Given the description of an element on the screen output the (x, y) to click on. 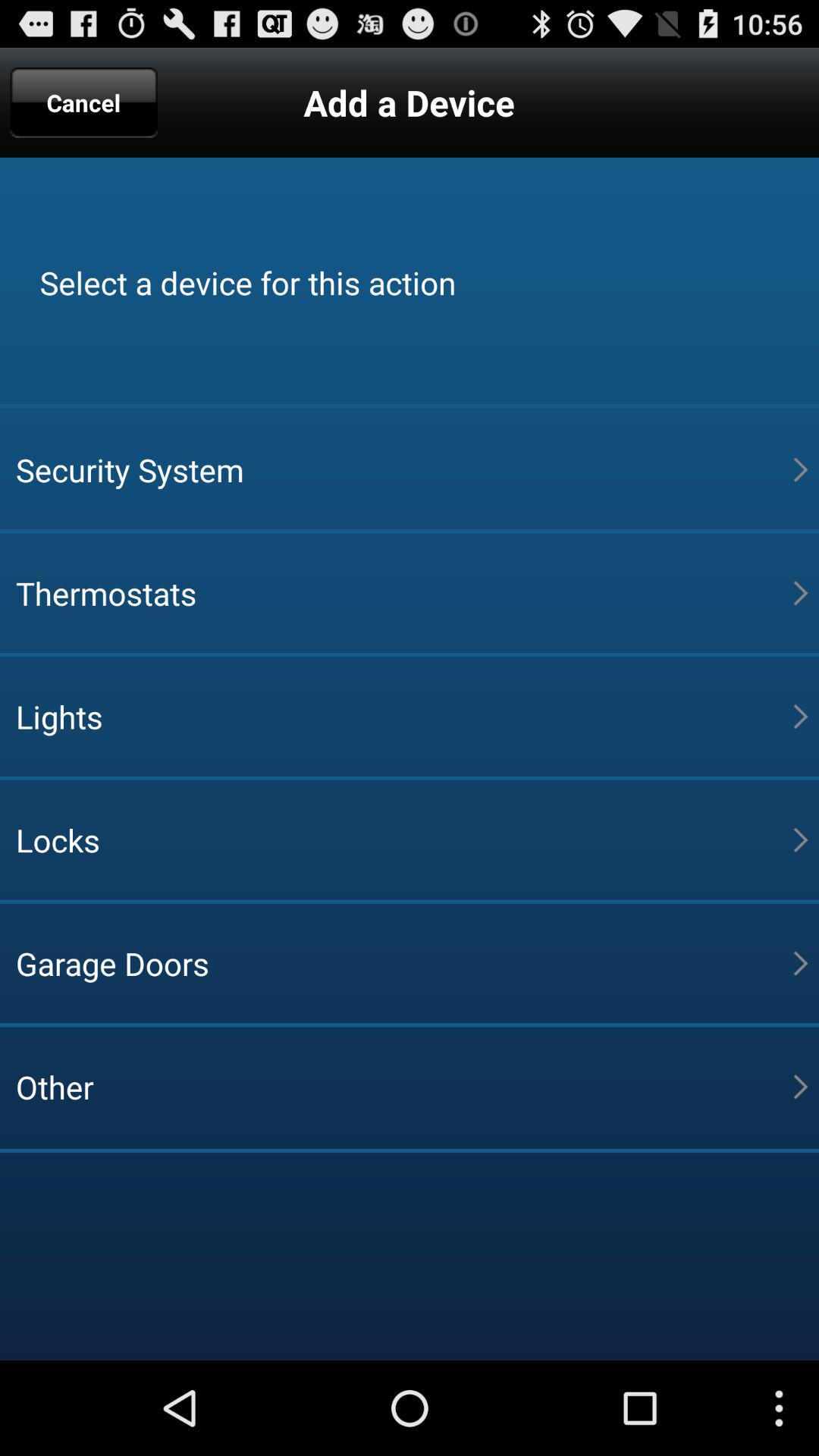
select app below lights icon (403, 839)
